Given the description of an element on the screen output the (x, y) to click on. 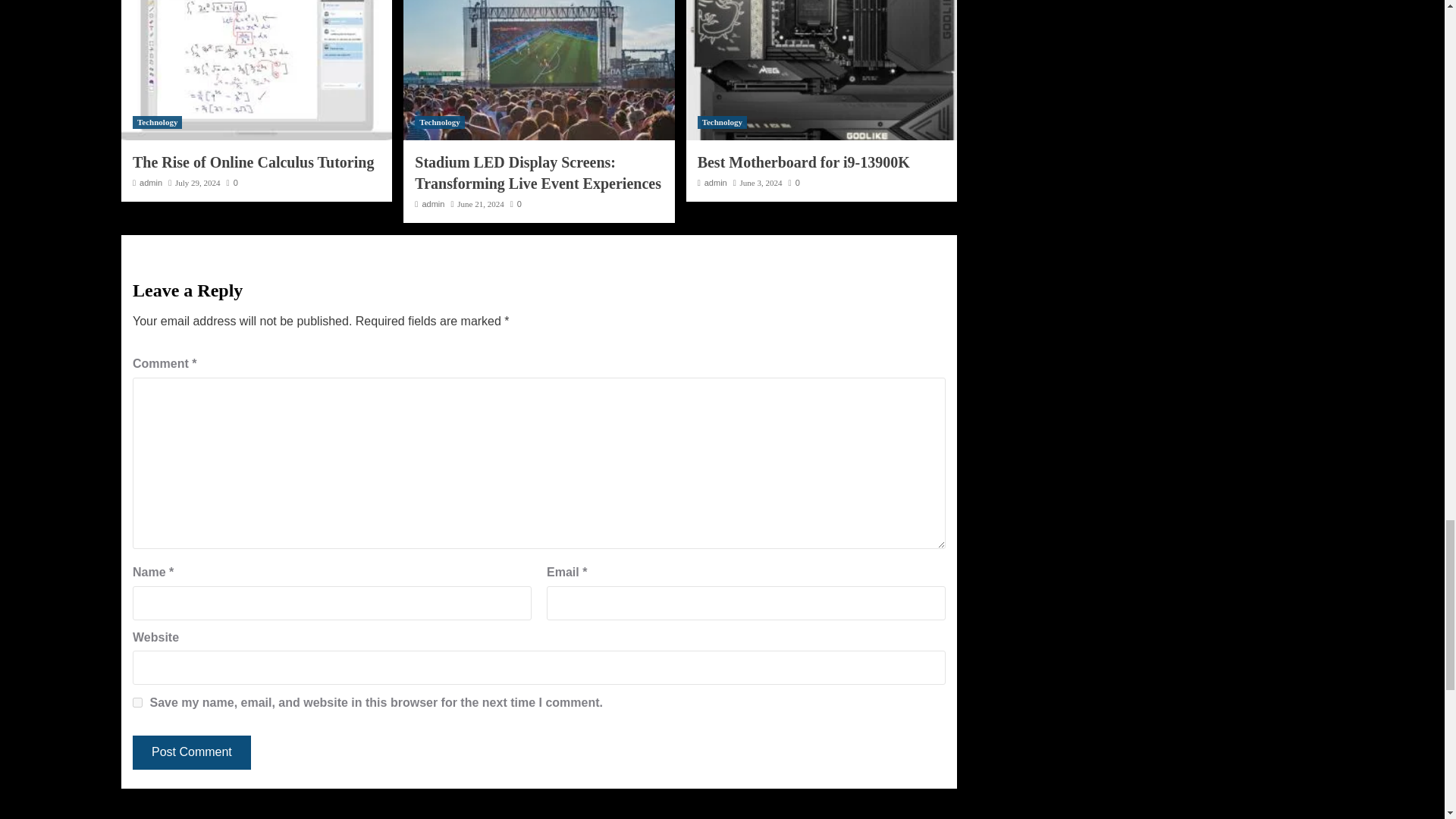
0 (516, 203)
July 29, 2024 (197, 182)
Technology (721, 122)
yes (137, 702)
Technology (157, 122)
The Rise of Online Calculus Tutoring (253, 161)
Post Comment (191, 752)
June 21, 2024 (480, 203)
Technology (439, 122)
